Given the description of an element on the screen output the (x, y) to click on. 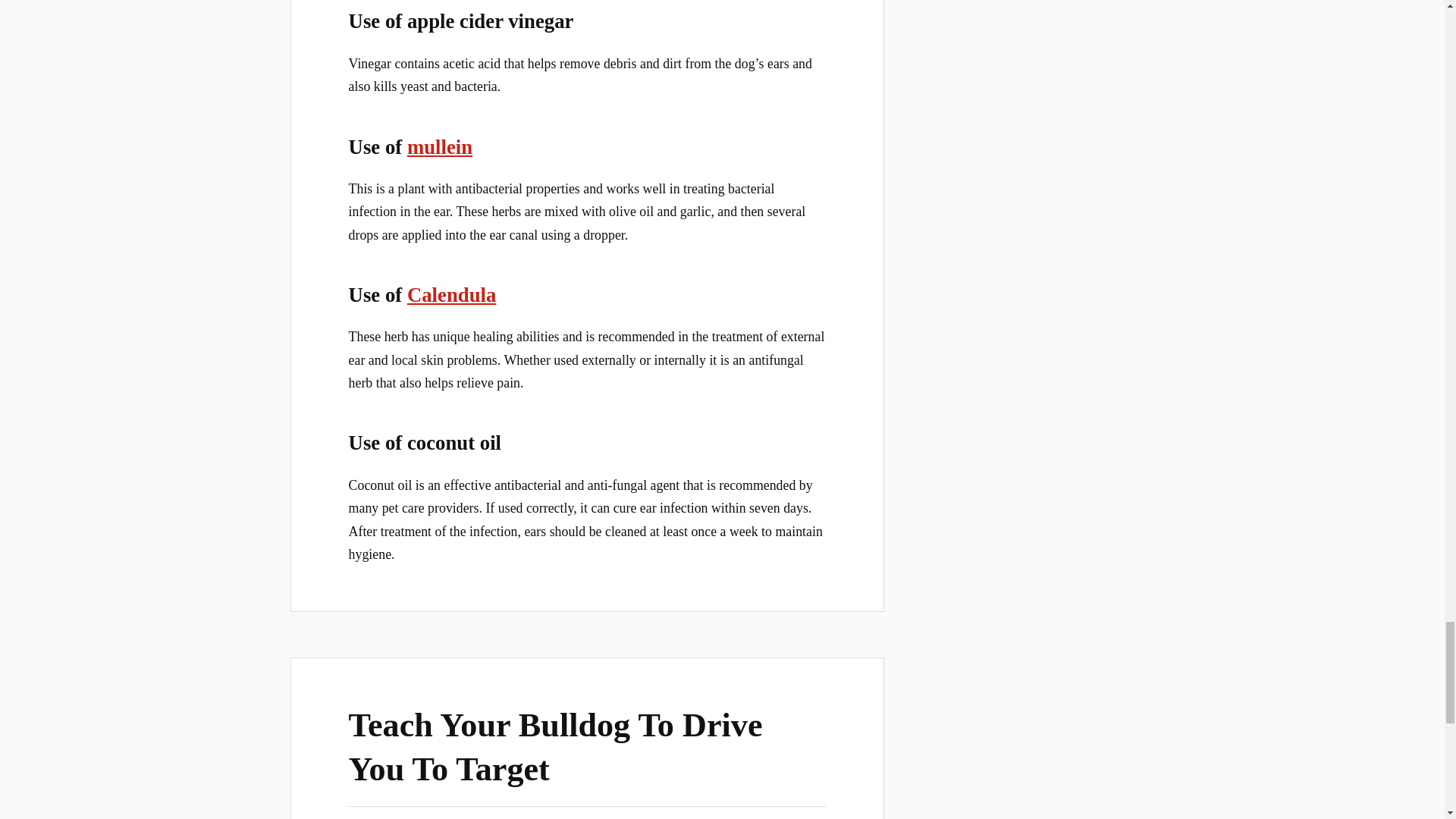
mullein (439, 146)
Teach Your Bulldog To Drive You To Target (555, 746)
Calendula (451, 294)
